Given the description of an element on the screen output the (x, y) to click on. 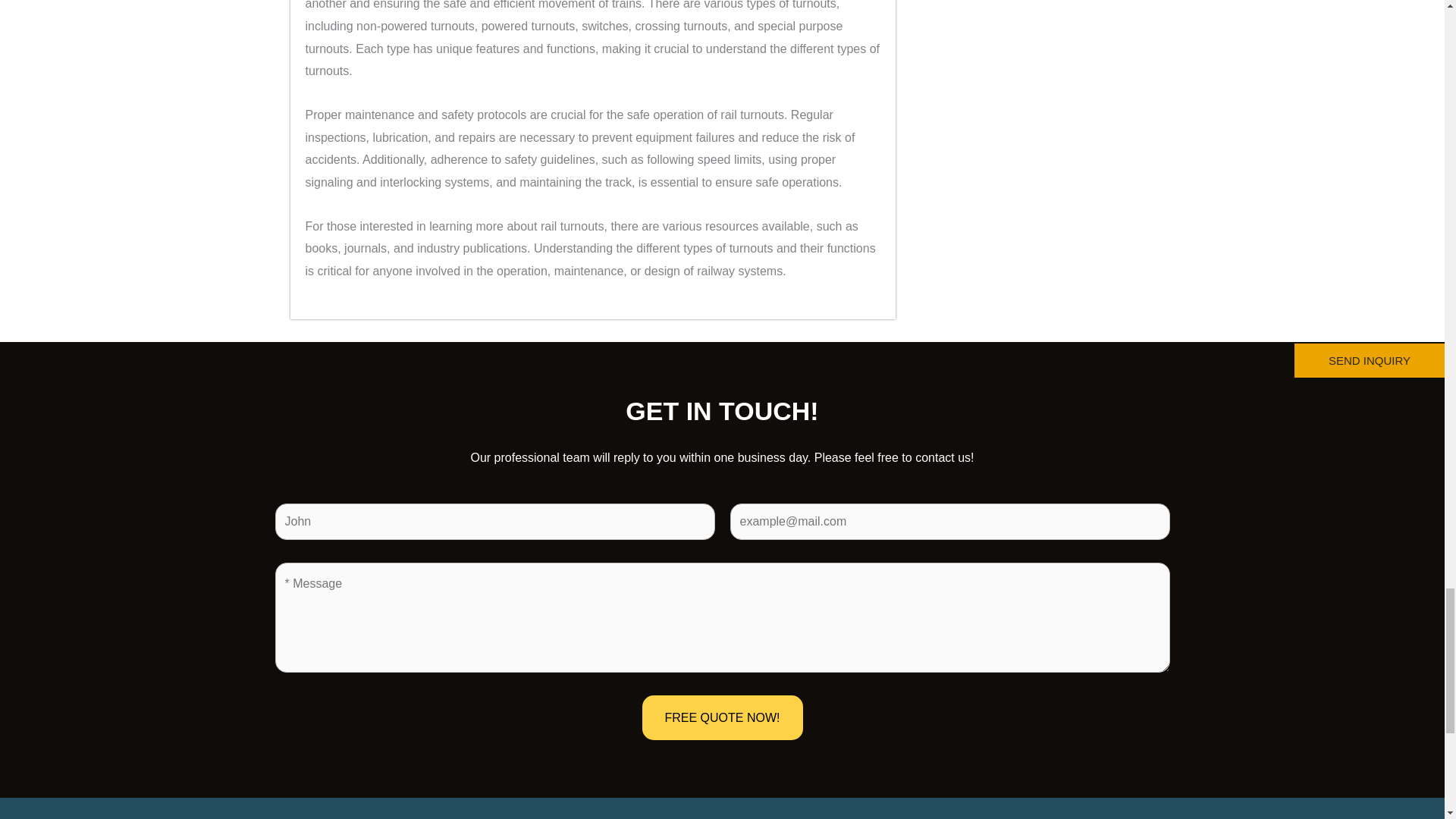
FREE Quote Now! (722, 718)
